Given the description of an element on the screen output the (x, y) to click on. 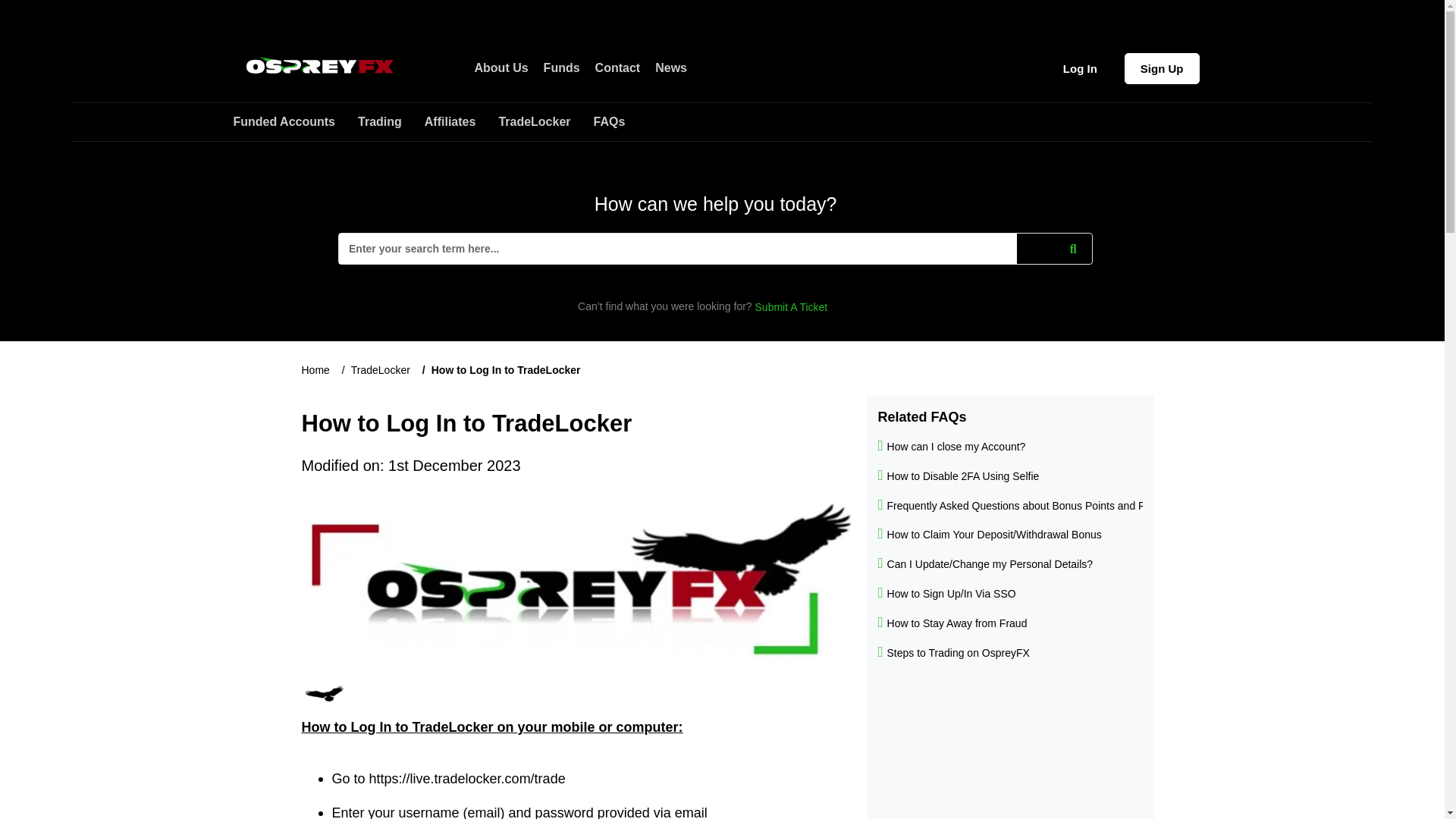
About Us (501, 67)
Affiliates (462, 121)
Sign Up (1161, 68)
Submit a Ticket (791, 307)
Trading (391, 121)
Log In (1080, 67)
Funds (561, 67)
Contact (617, 67)
News (668, 67)
Funded Accounts (295, 121)
